Given the description of an element on the screen output the (x, y) to click on. 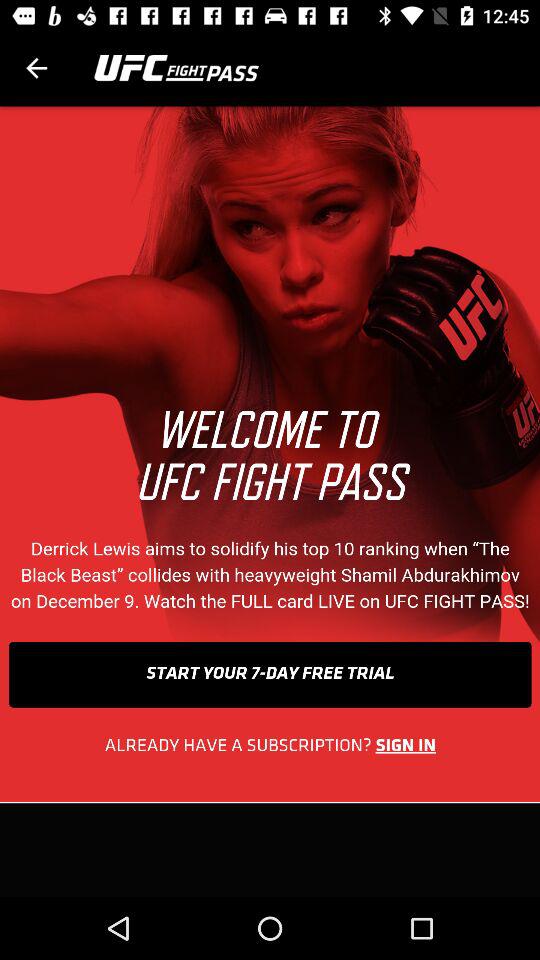
go back (36, 68)
